Given the description of an element on the screen output the (x, y) to click on. 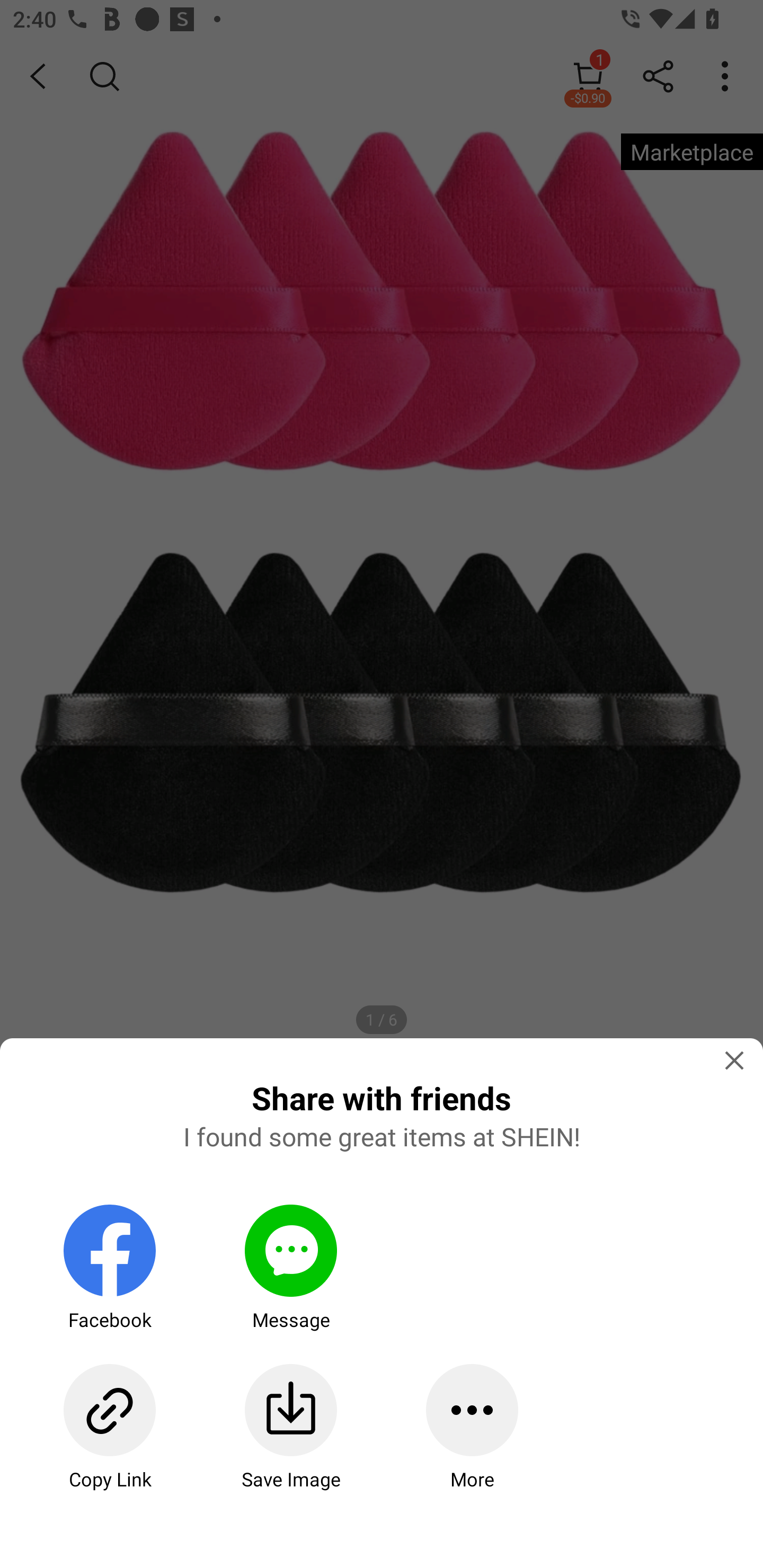
Facebook (109, 1268)
Message (290, 1268)
Copy Link (109, 1427)
Save Image (290, 1427)
More (472, 1427)
